Given the description of an element on the screen output the (x, y) to click on. 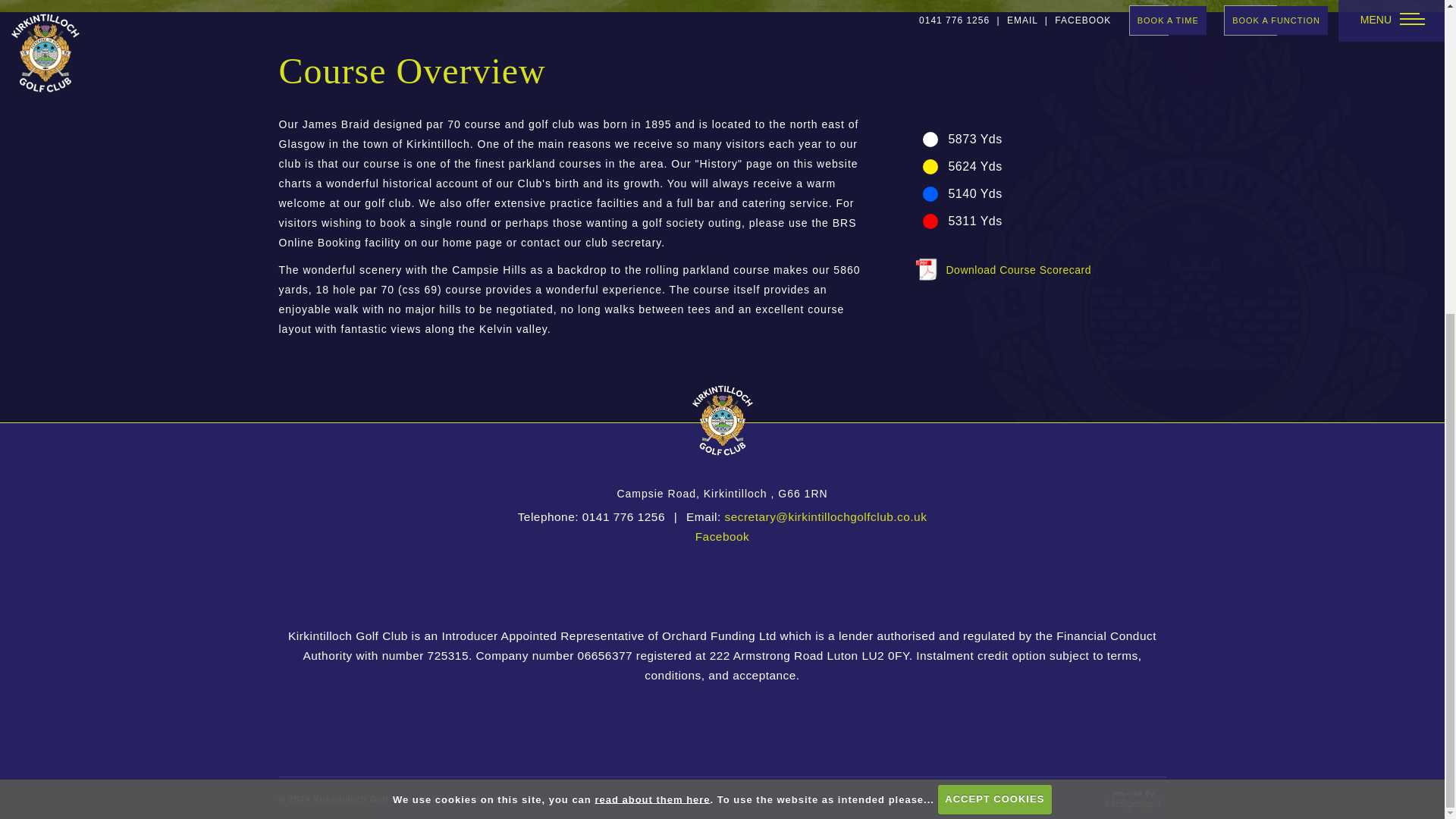
read about our cookies (652, 296)
